Given the description of an element on the screen output the (x, y) to click on. 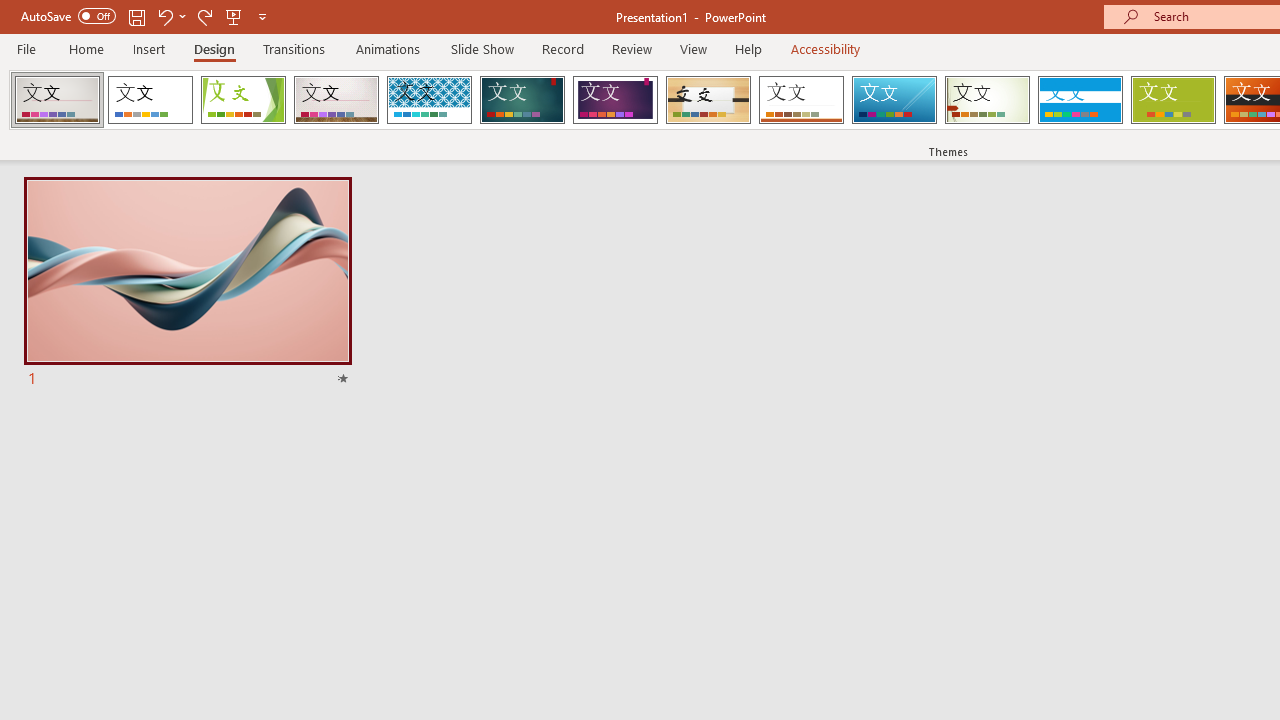
Banded (1080, 100)
Slice (893, 100)
